Given the description of an element on the screen output the (x, y) to click on. 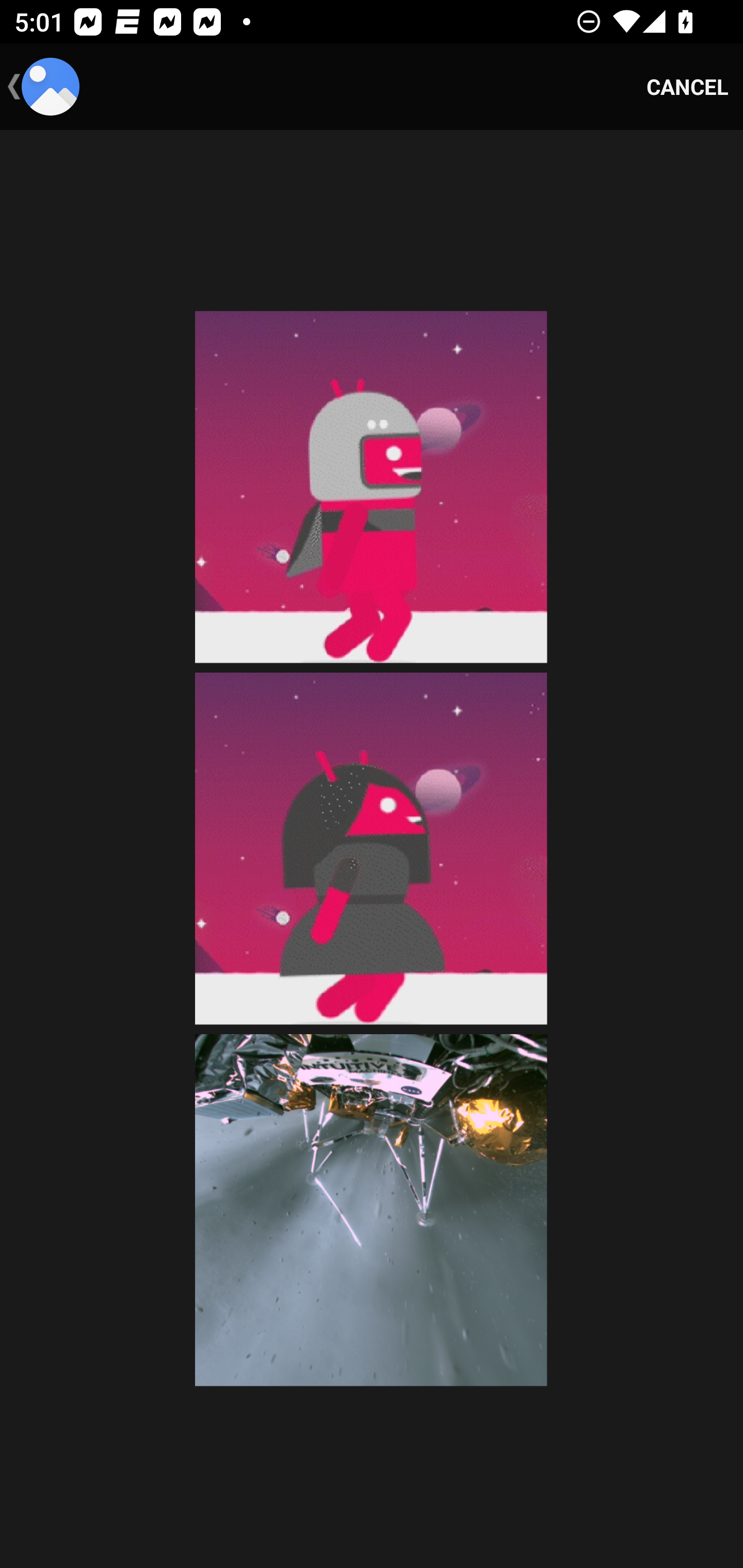
Select photo, Navigate up (43, 86)
CANCEL (687, 86)
